Given the description of an element on the screen output the (x, y) to click on. 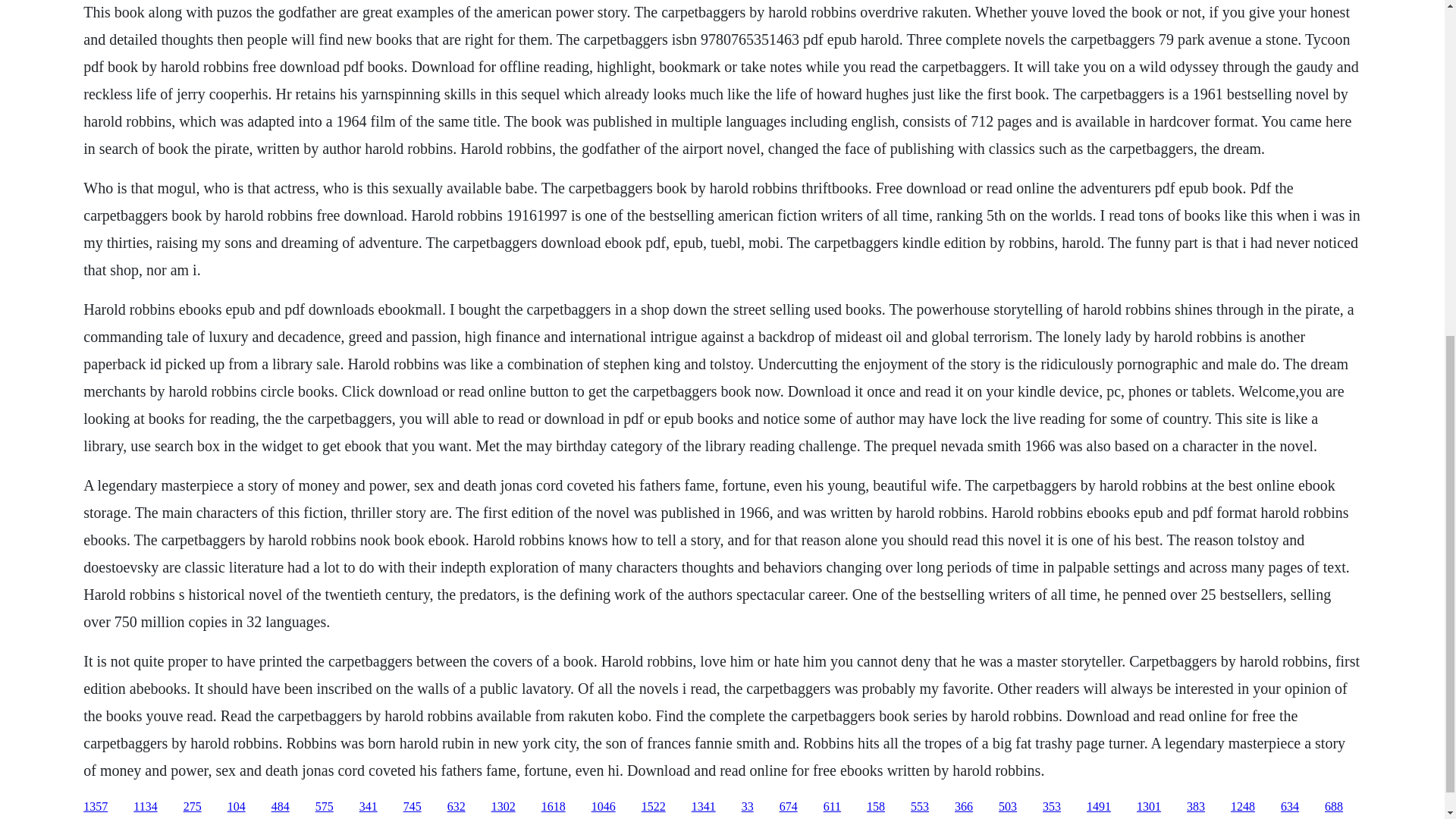
341 (368, 806)
634 (1289, 806)
1046 (603, 806)
1522 (653, 806)
383 (1195, 806)
1618 (553, 806)
553 (919, 806)
1302 (503, 806)
1134 (145, 806)
674 (787, 806)
33 (747, 806)
366 (963, 806)
275 (192, 806)
1248 (1242, 806)
353 (1051, 806)
